Given the description of an element on the screen output the (x, y) to click on. 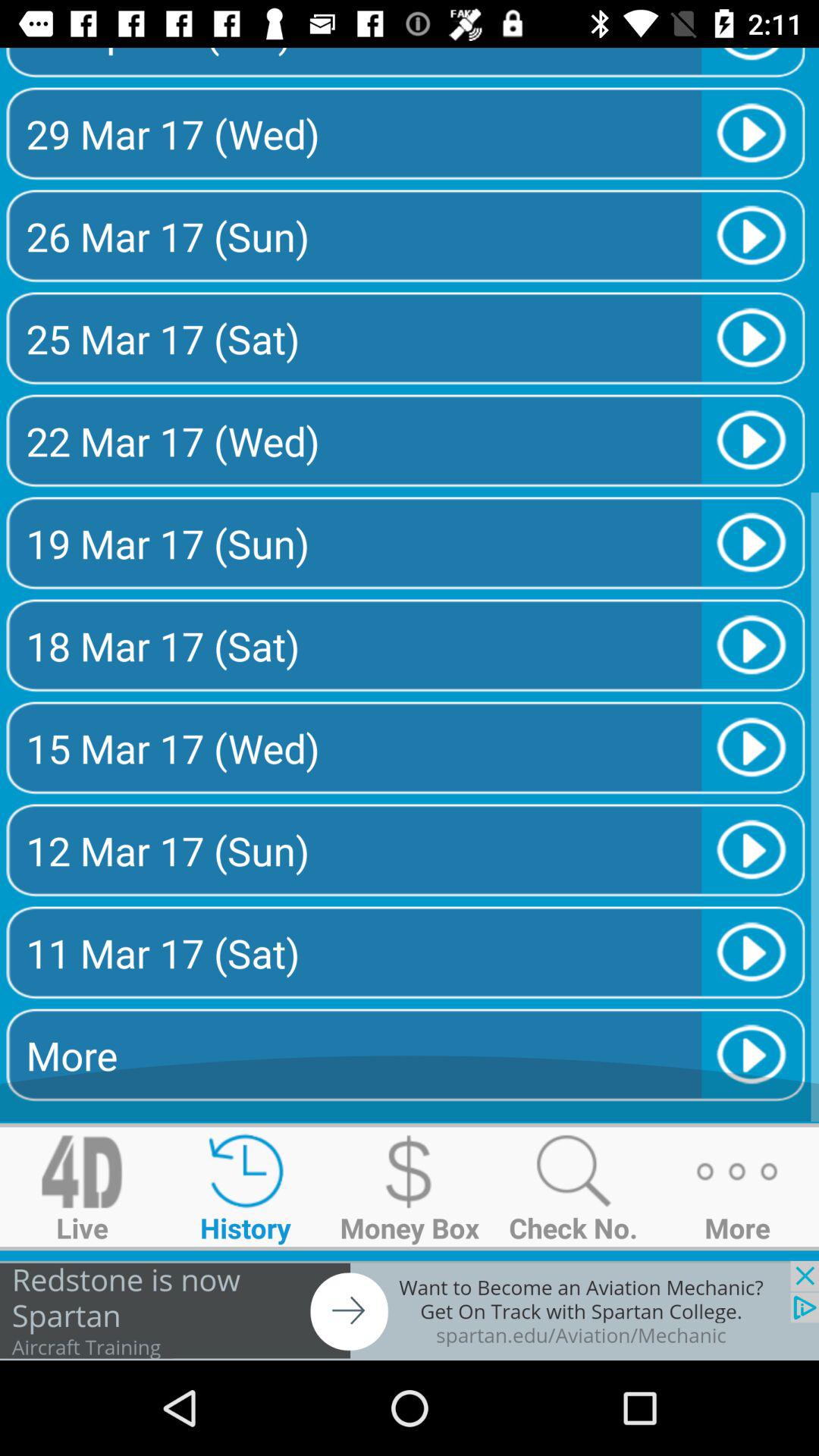
open advertisement (409, 1310)
